Given the description of an element on the screen output the (x, y) to click on. 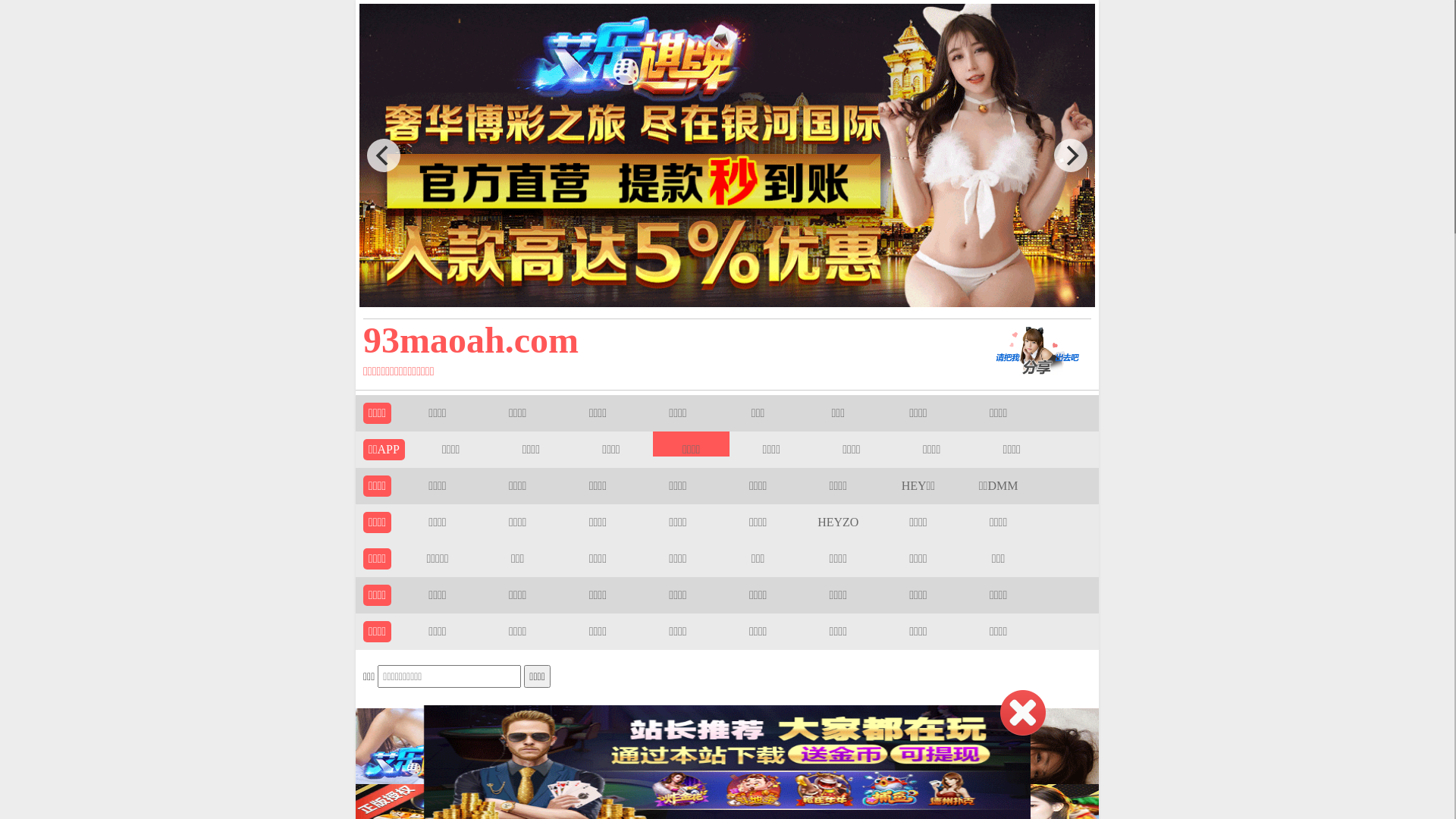
HEYZO Element type: text (837, 521)
93maoah.com Element type: text (654, 339)
